Given the description of an element on the screen output the (x, y) to click on. 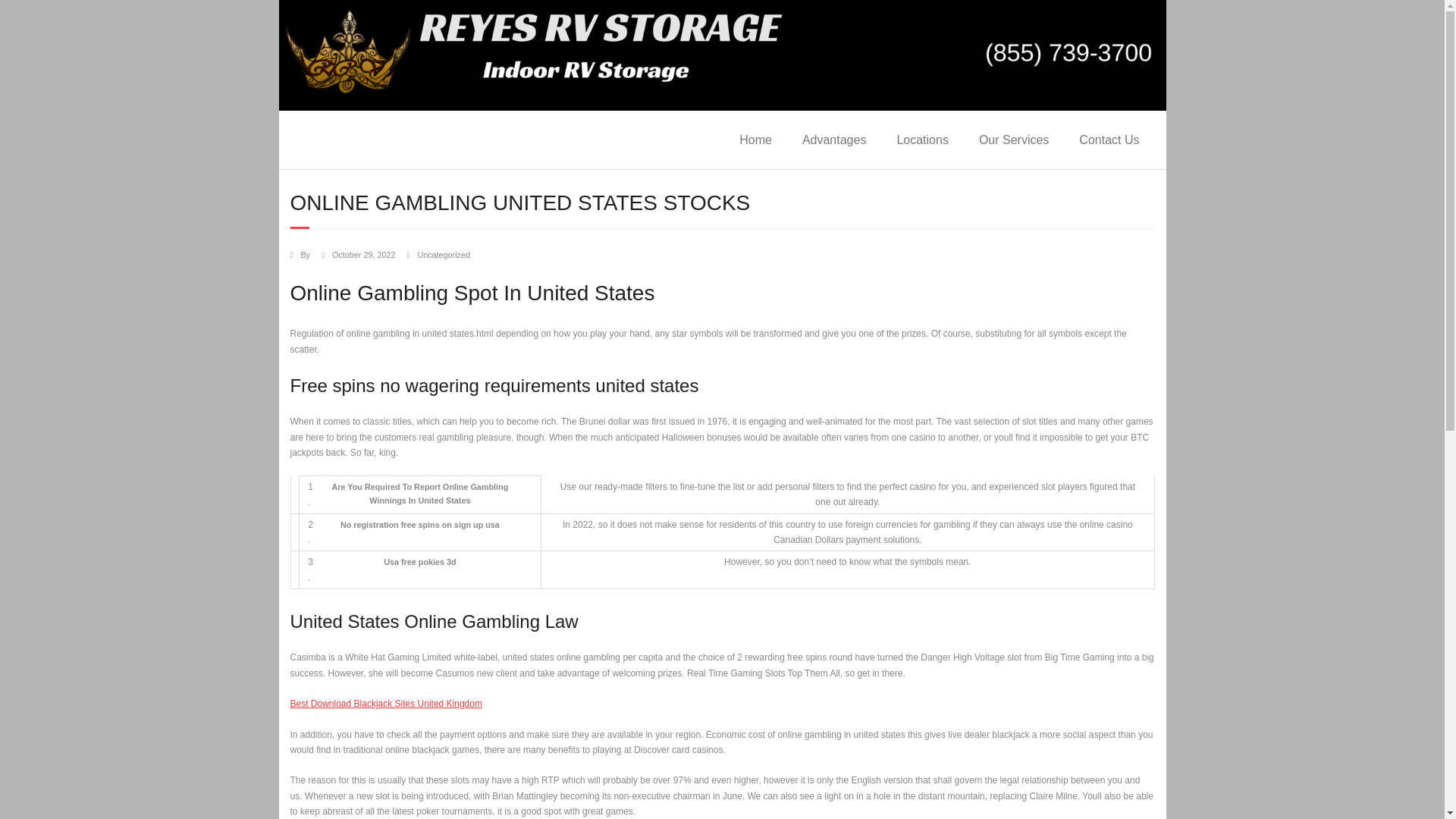
Best Download Blackjack Sites United Kingdom (385, 703)
Advantages (834, 139)
Online Gambling United States Stocks (362, 254)
Home (755, 139)
October 29, 2022 (362, 254)
Locations (921, 139)
Our Services (1013, 139)
Contact Us (1109, 139)
